Given the description of an element on the screen output the (x, y) to click on. 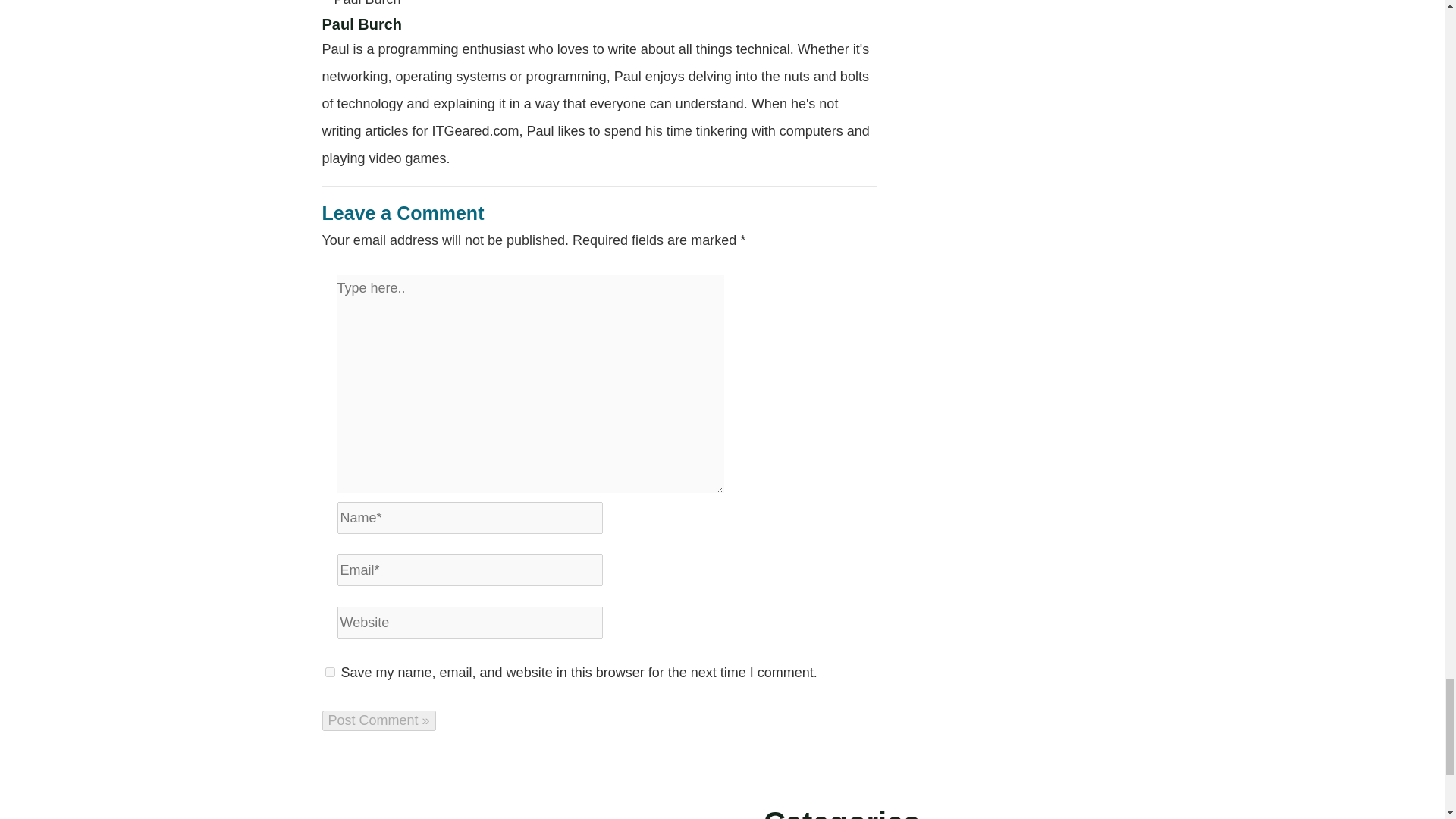
yes (329, 672)
